Given the description of an element on the screen output the (x, y) to click on. 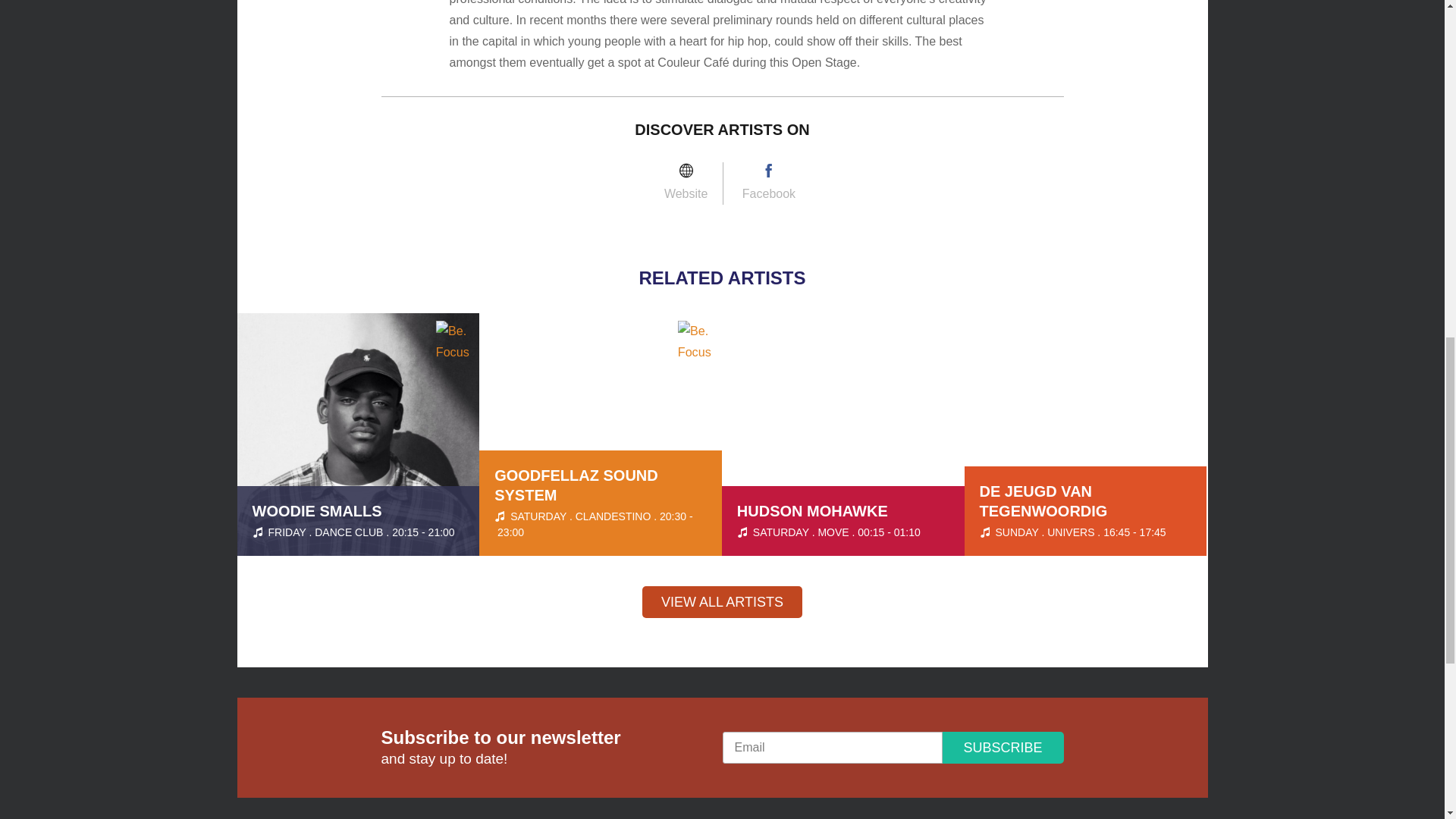
Facebook (768, 185)
SUBSCRIBE (1002, 747)
VIEW ALL ARTISTS (842, 434)
Website (722, 602)
